Given the description of an element on the screen output the (x, y) to click on. 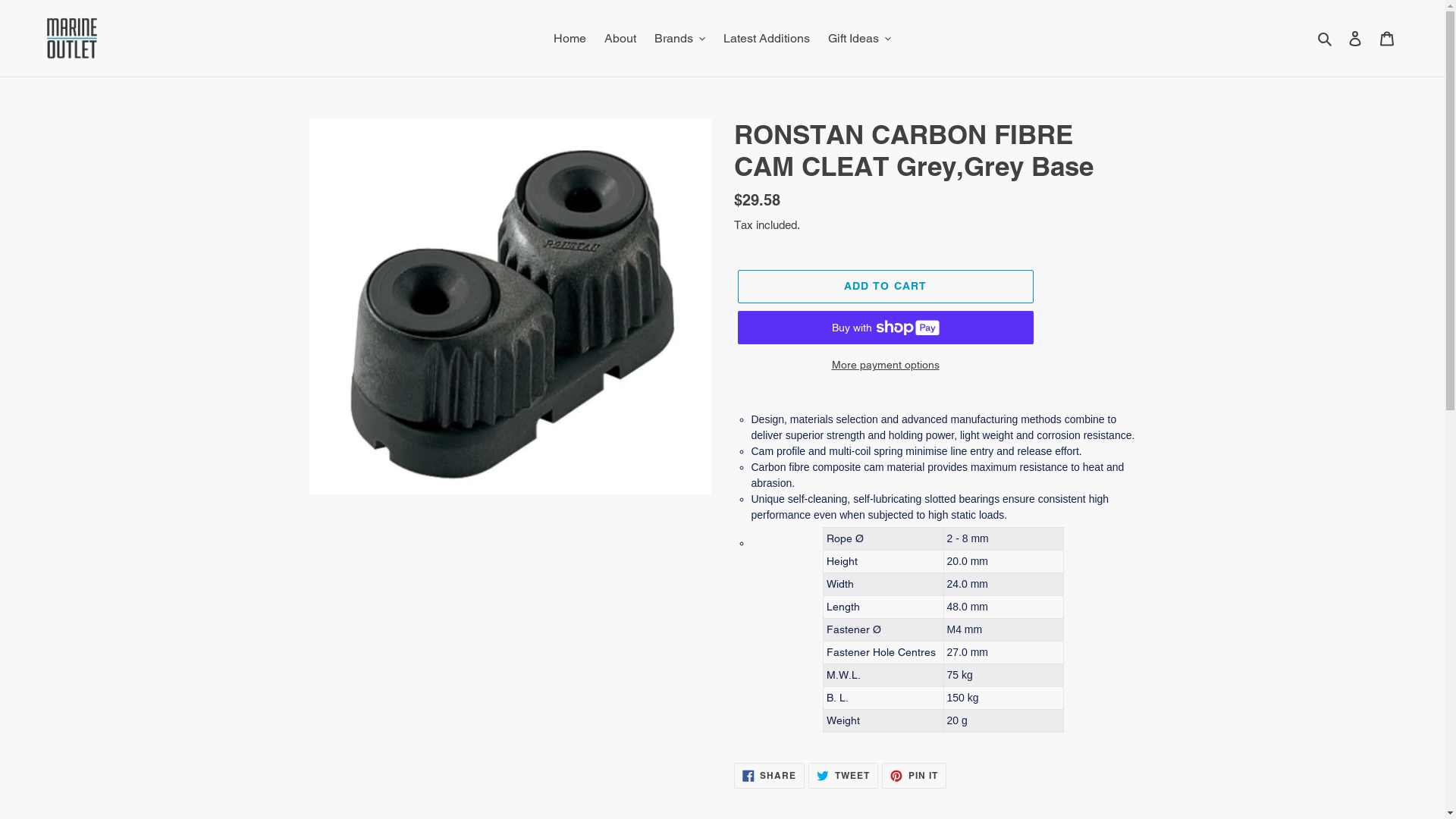
Cart Element type: text (1386, 38)
SHARE
SHARE ON FACEBOOK Element type: text (769, 775)
PIN IT
PIN ON PINTEREST Element type: text (913, 775)
More payment options Element type: text (884, 364)
Log in Element type: text (1355, 38)
TWEET
TWEET ON TWITTER Element type: text (843, 775)
About Element type: text (619, 38)
Brands Element type: text (679, 38)
Home Element type: text (569, 38)
Search Element type: text (1325, 38)
Gift Ideas Element type: text (859, 38)
Latest Additions Element type: text (766, 38)
ADD TO CART Element type: text (884, 286)
